Given the description of an element on the screen output the (x, y) to click on. 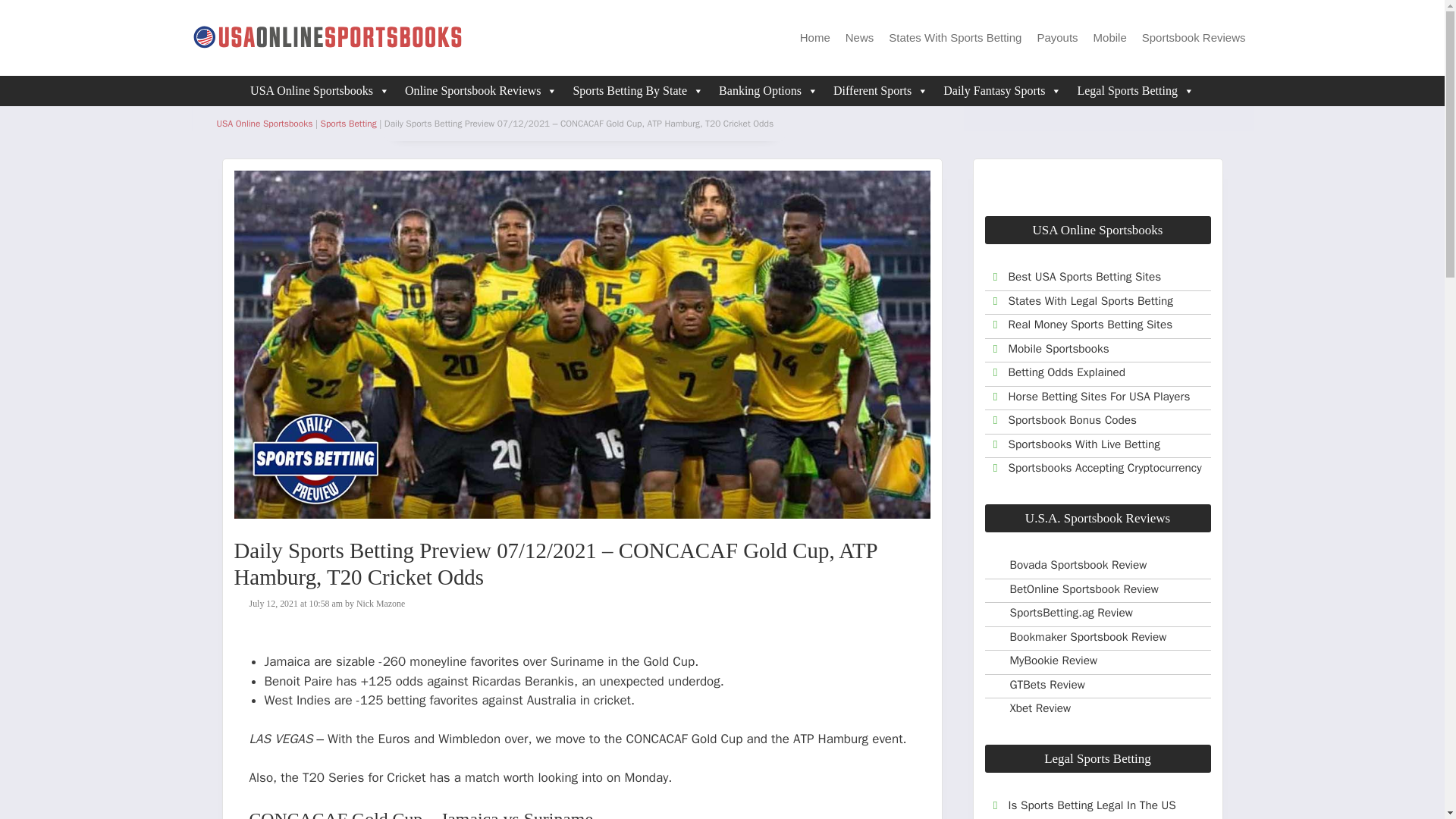
Payouts (1056, 37)
News (860, 37)
Online Sportsbook Reviews (481, 91)
Sportsbook Reviews (1193, 37)
States With Sports Betting (954, 37)
Mobile Betting (1110, 37)
Home (815, 37)
Payouts (1056, 37)
USA Online Sportsbooks (320, 91)
Mobile (1110, 37)
